Given the description of an element on the screen output the (x, y) to click on. 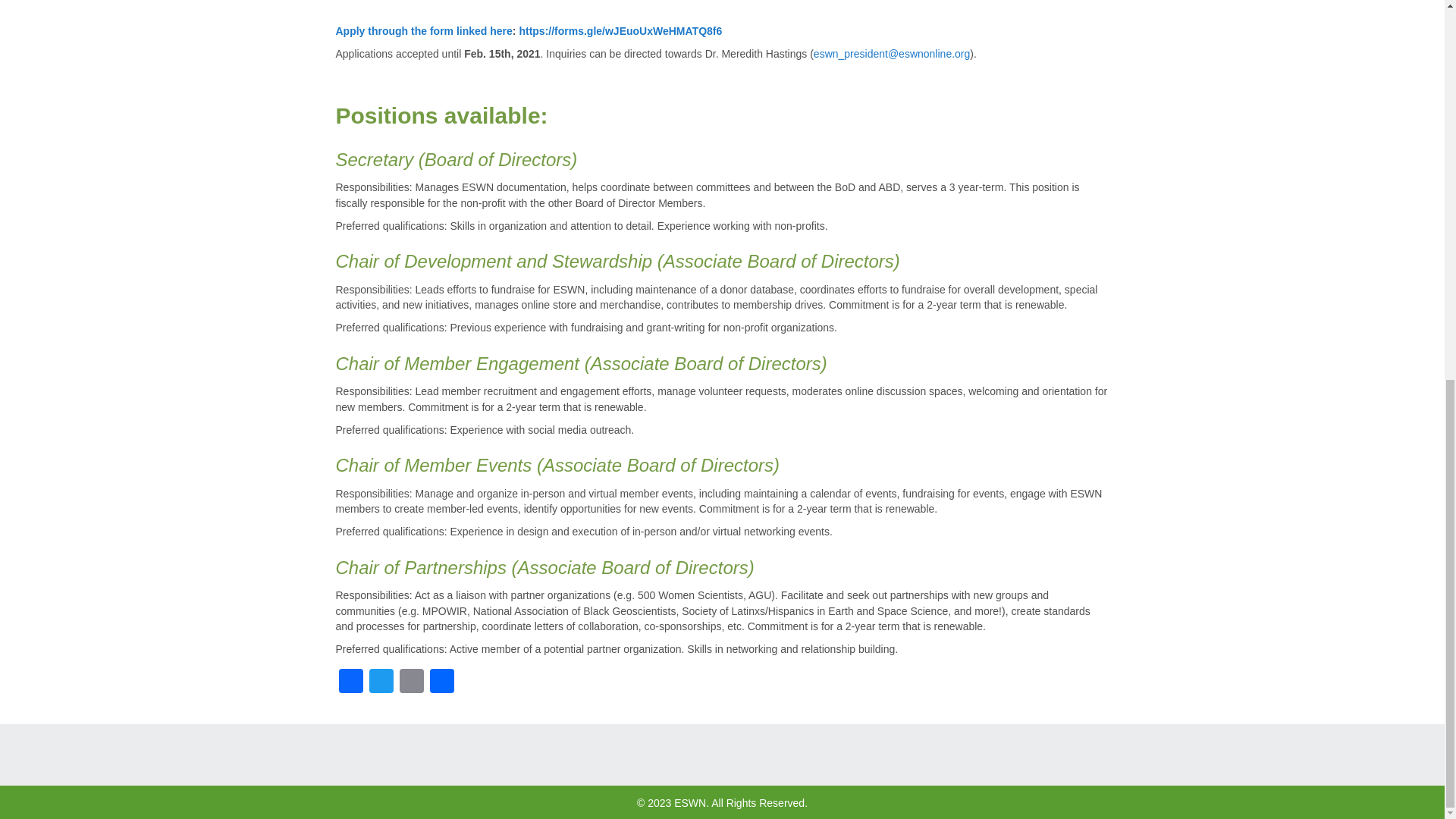
Facebook (349, 682)
Twitter (380, 682)
Email (411, 682)
Facebook (349, 682)
Apply through the form linked here (423, 30)
